Given the description of an element on the screen output the (x, y) to click on. 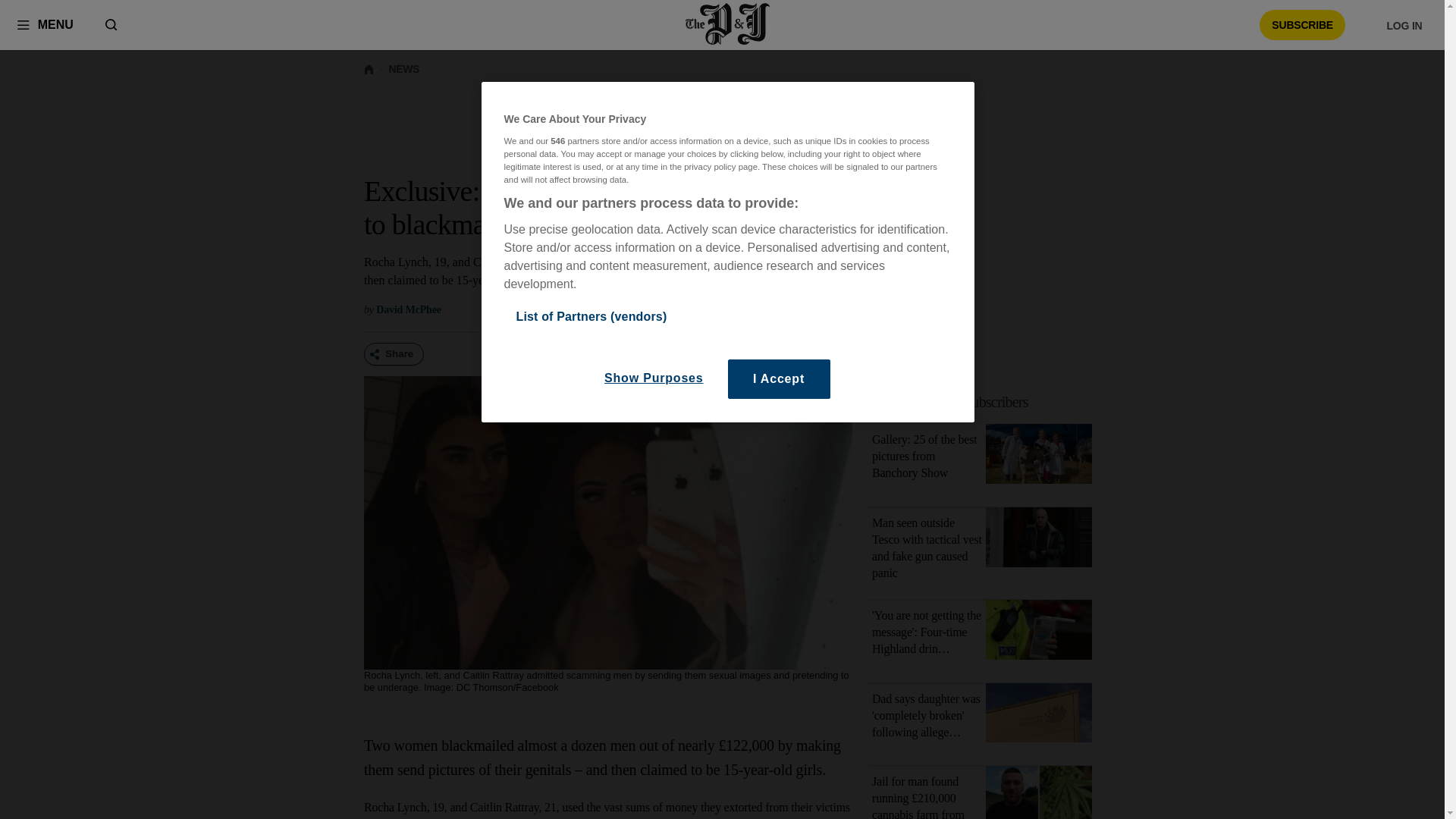
Press and Journal (727, 24)
Gallery: 25 of the best pictures from Banchory Show (924, 456)
MENU (44, 24)
Exclusive to our subscribers (950, 402)
Exclusive to our subscribers (986, 402)
